Given the description of an element on the screen output the (x, y) to click on. 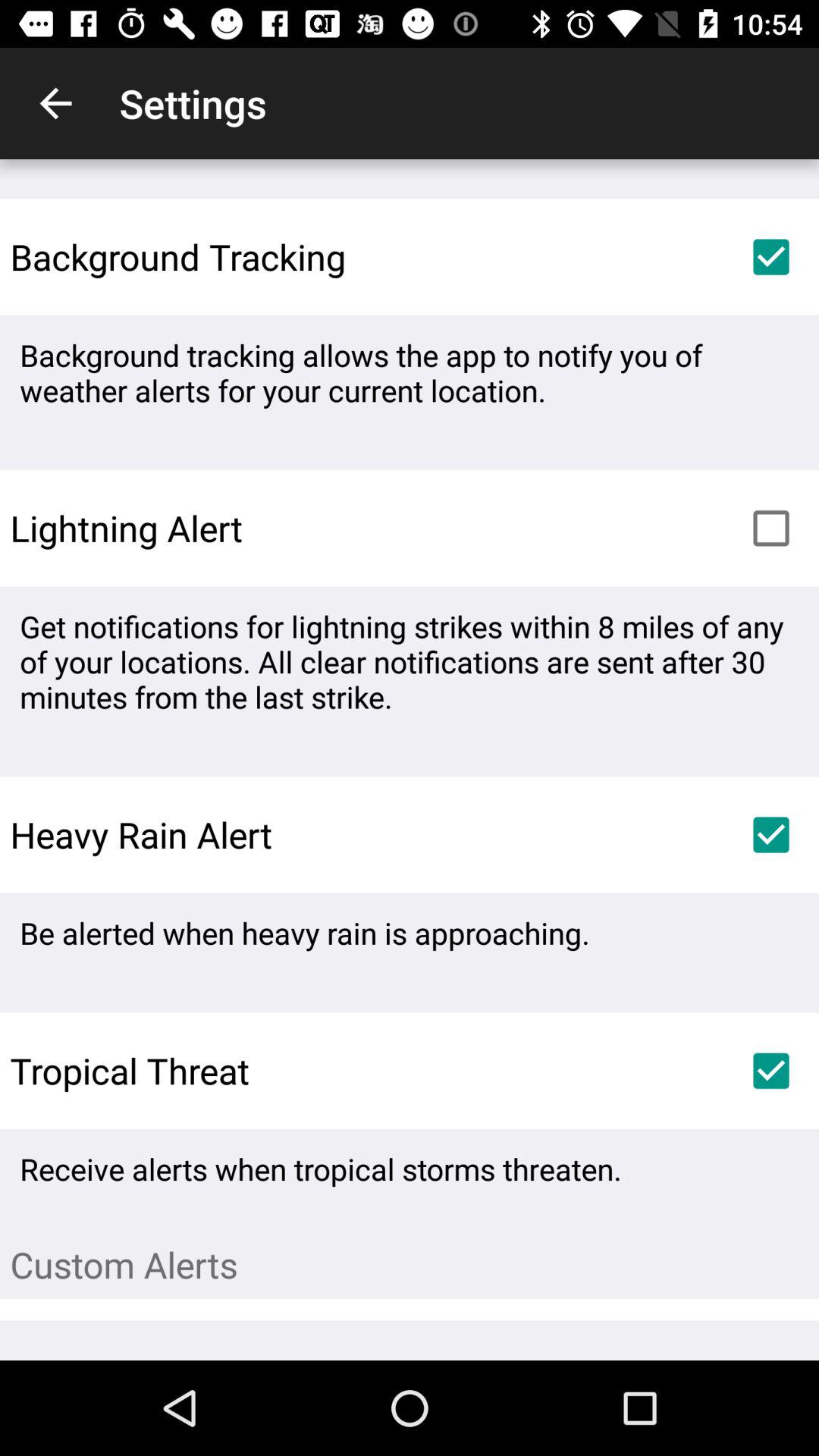
tab to add lightning alert (771, 528)
